Given the description of an element on the screen output the (x, y) to click on. 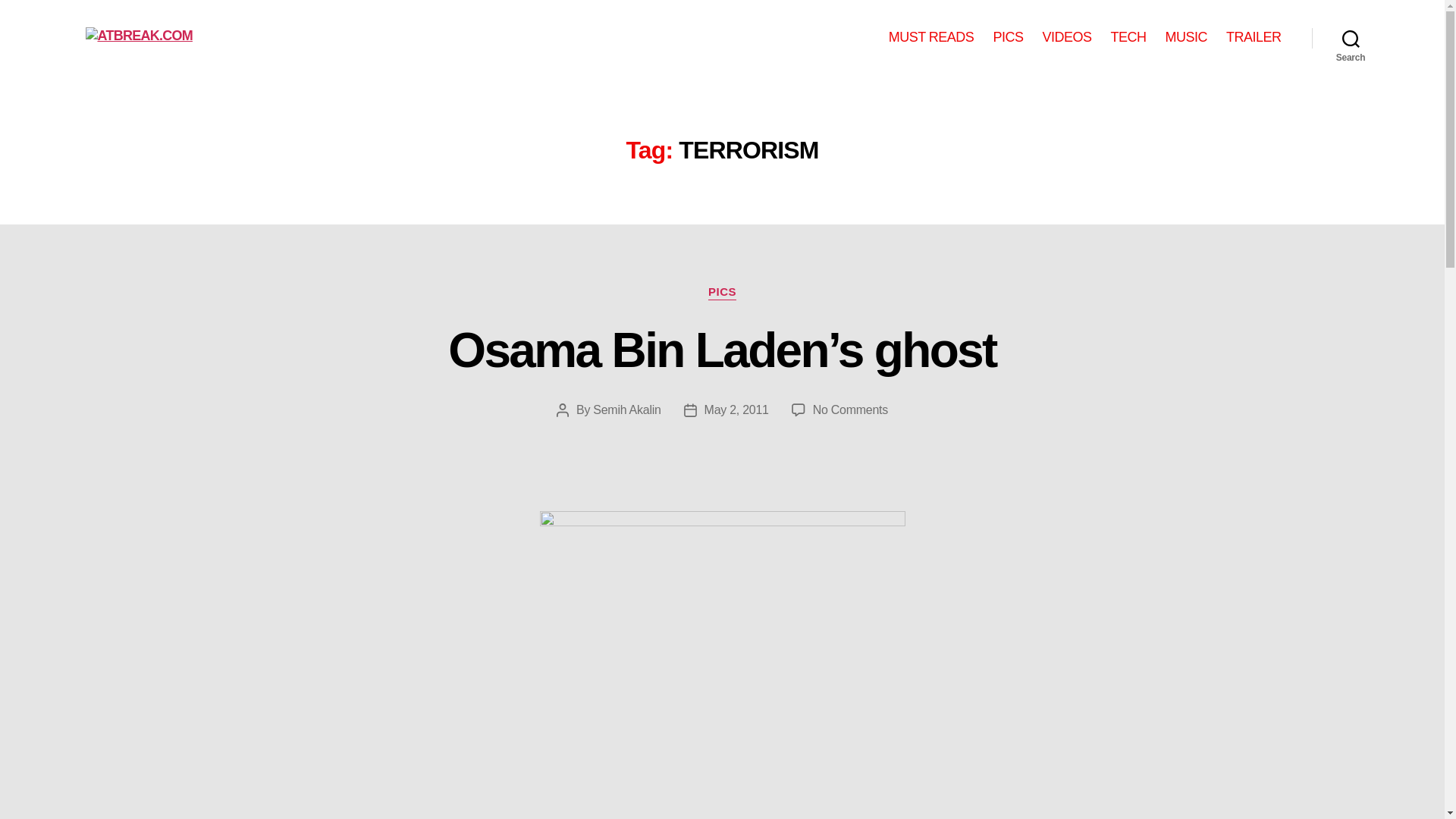
MUSIC (1185, 37)
bin-laden-ghost (722, 664)
Semih Akalin (626, 409)
May 2, 2011 (736, 409)
VIDEOS (1066, 37)
TECH (1127, 37)
TRAILER (1253, 37)
PICS (1007, 37)
MUST READS (931, 37)
PICS (721, 292)
Search (1350, 37)
